Given the description of an element on the screen output the (x, y) to click on. 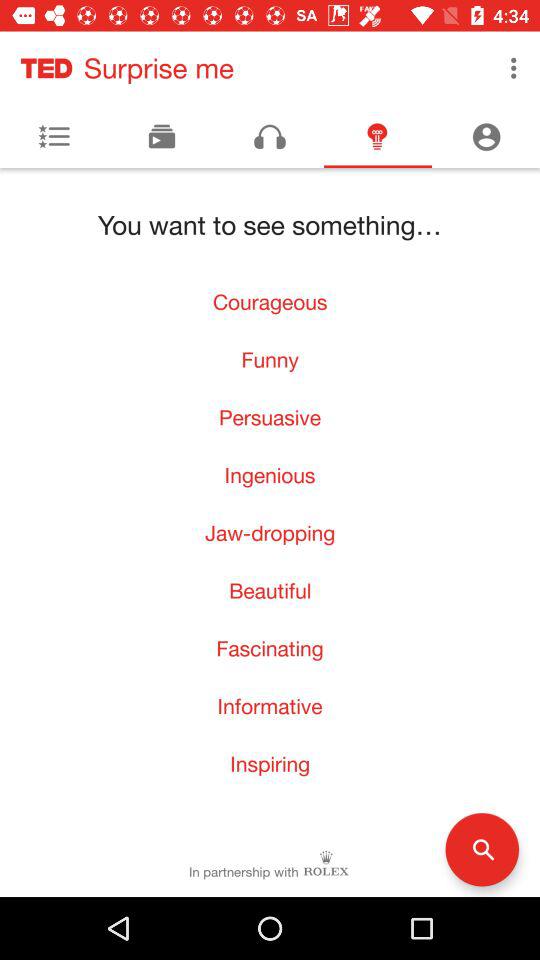
choose the item above the ingenious item (270, 417)
